Given the description of an element on the screen output the (x, y) to click on. 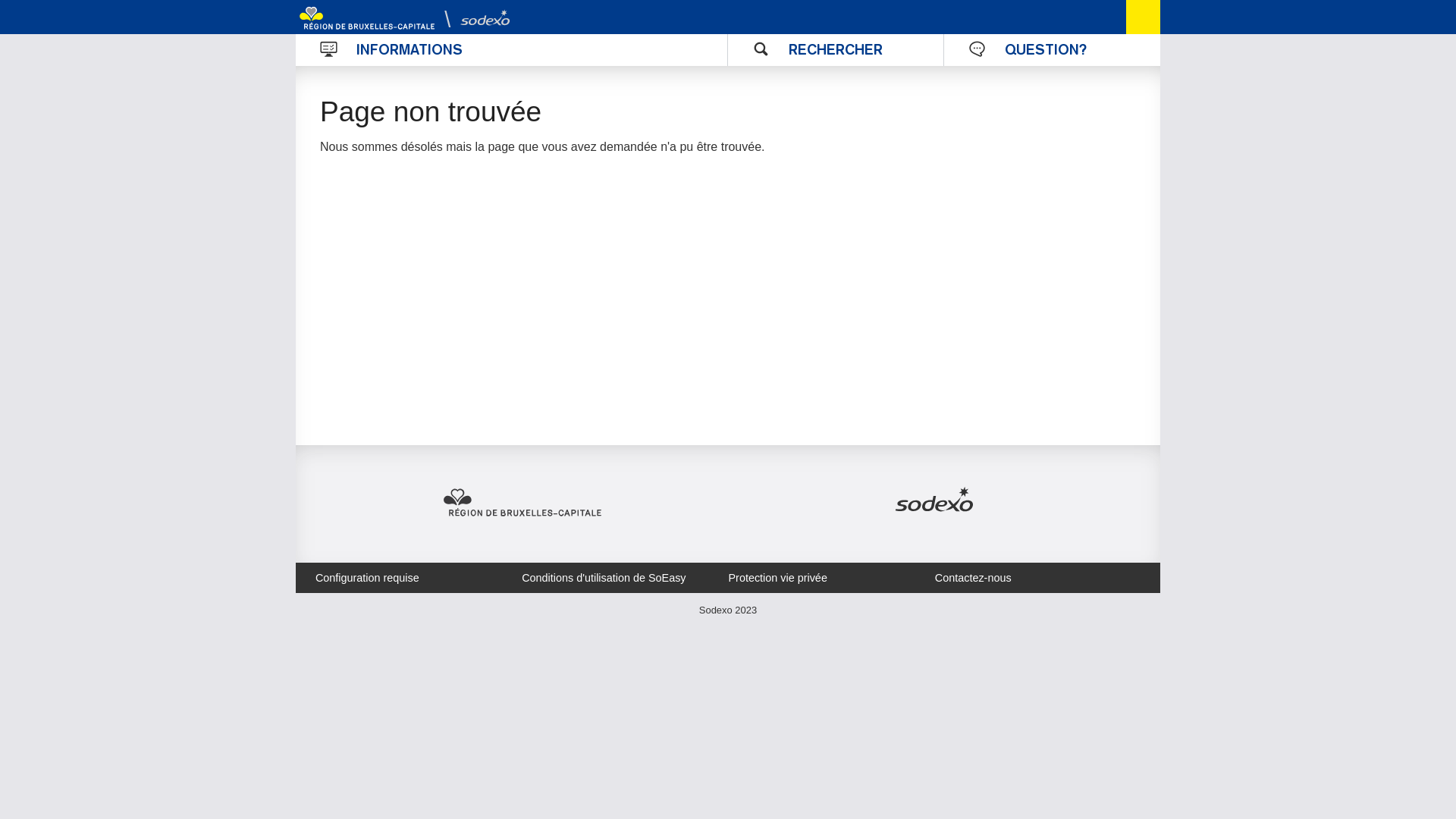
Configuration requise Element type: text (367, 577)
Sodexo 2023 Element type: text (727, 609)
Contactez-nous Element type: text (973, 577)
Conditions d'utilisation de SoEasy Element type: text (603, 577)
QUESTION? Element type: text (1052, 49)
RECHERCHER Element type: text (836, 49)
INFORMATIONS Element type: text (511, 49)
